Given the description of an element on the screen output the (x, y) to click on. 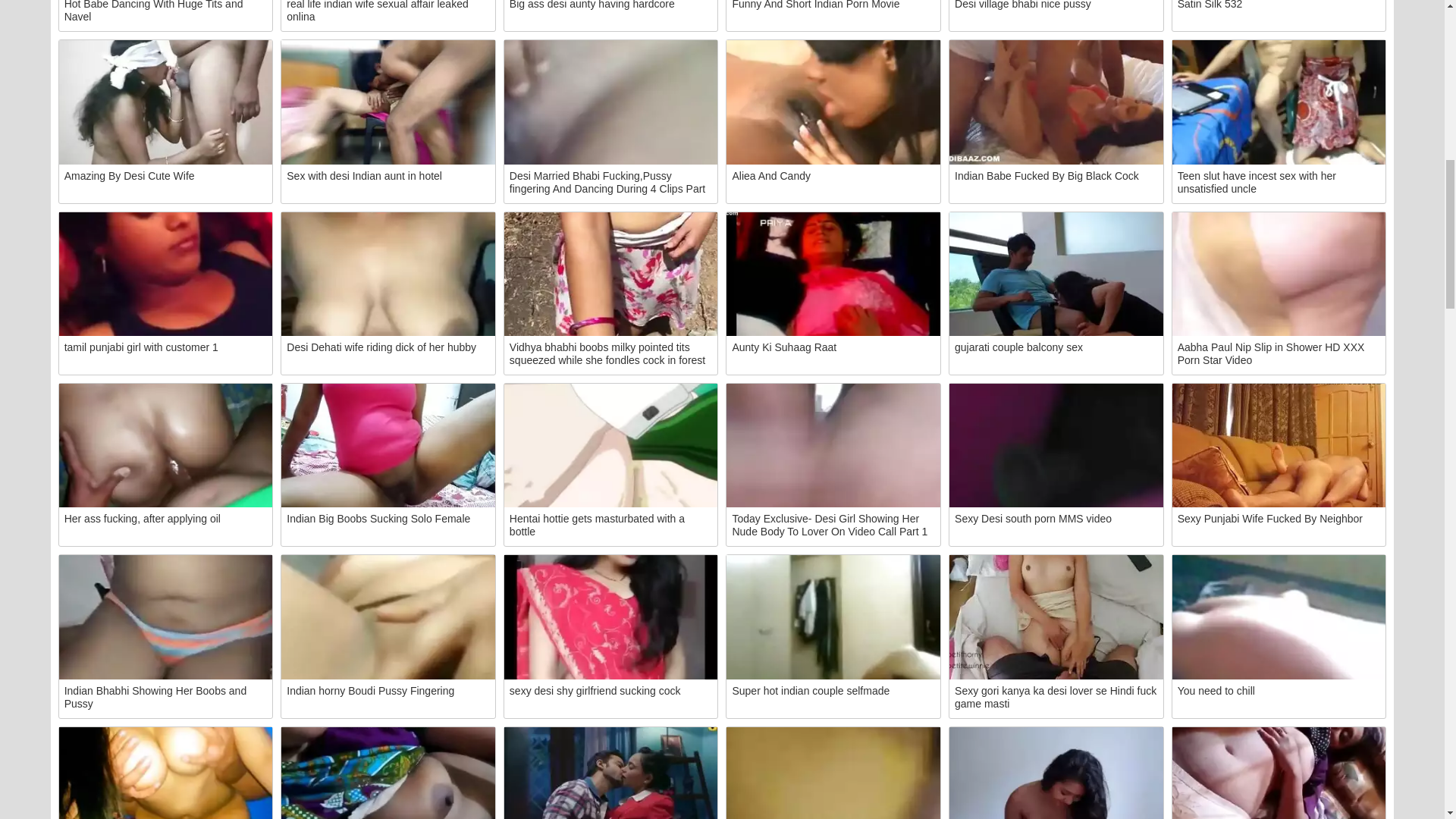
Teen slut have incest sex with her unsatisfied uncle (1279, 101)
Aliea And Candy (833, 101)
tamil punjabi girl with customer 1 (166, 273)
Her ass fucking, after applying oil (166, 445)
Aabha Paul Nip Slip in Shower HD XXX Porn Star Video (1279, 273)
Desi Dehati wife riding dick of her hubby (388, 273)
Sex with desi Indian aunt in hotel (388, 101)
gujarati couple balcony sex (1056, 273)
Indian Babe Fucked By Big Black Cock (1056, 101)
